Given the description of an element on the screen output the (x, y) to click on. 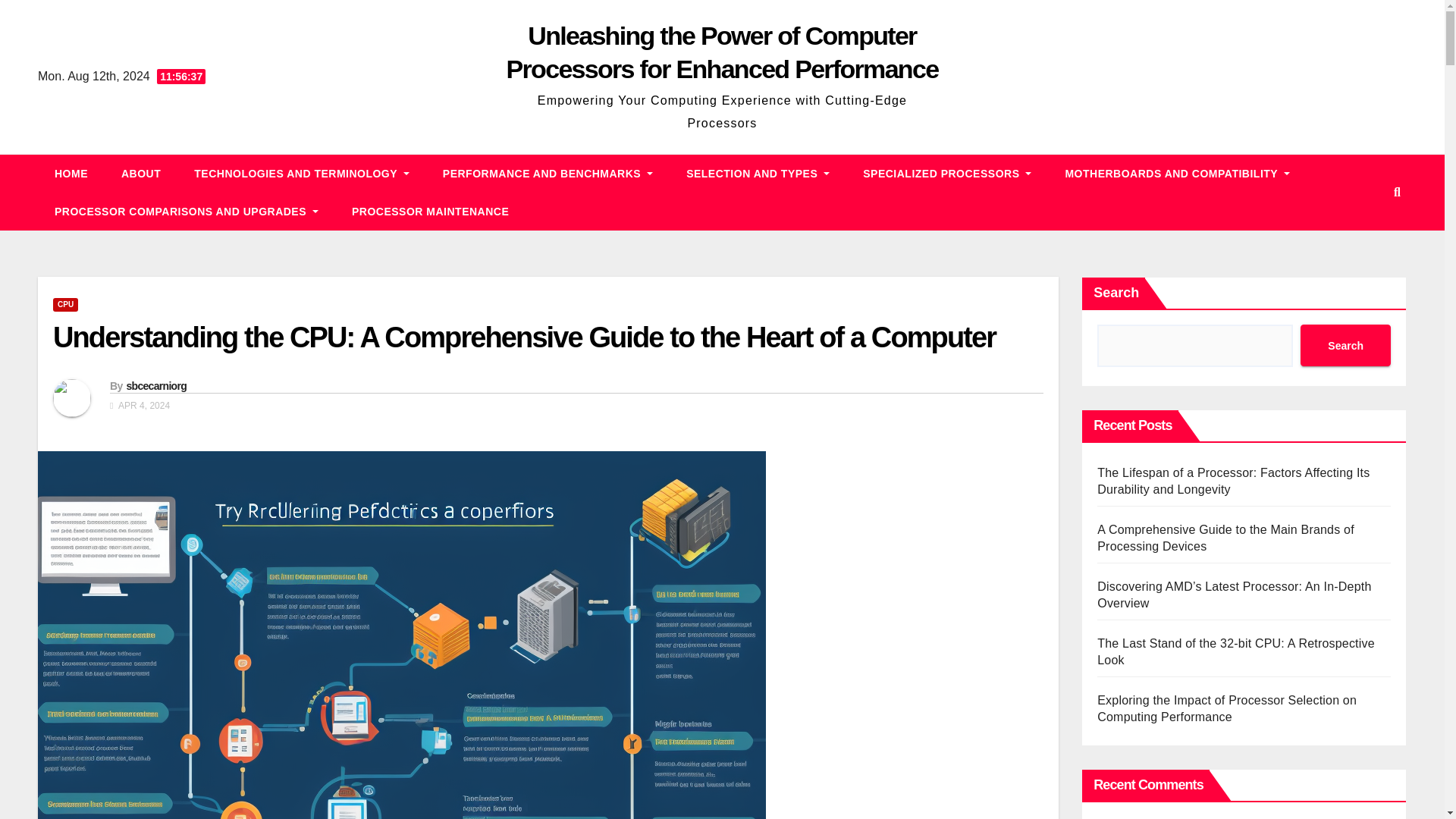
PROCESSOR COMPARISONS AND UPGRADES (185, 211)
PROCESSOR MAINTENANCE (429, 211)
PERFORMANCE AND BENCHMARKS (547, 173)
About (140, 173)
ABOUT (140, 173)
MOTHERBOARDS AND COMPATIBILITY (1177, 173)
SPECIALIZED PROCESSORS (946, 173)
TECHNOLOGIES AND TERMINOLOGY (301, 173)
SELECTION AND TYPES (757, 173)
